Given the description of an element on the screen output the (x, y) to click on. 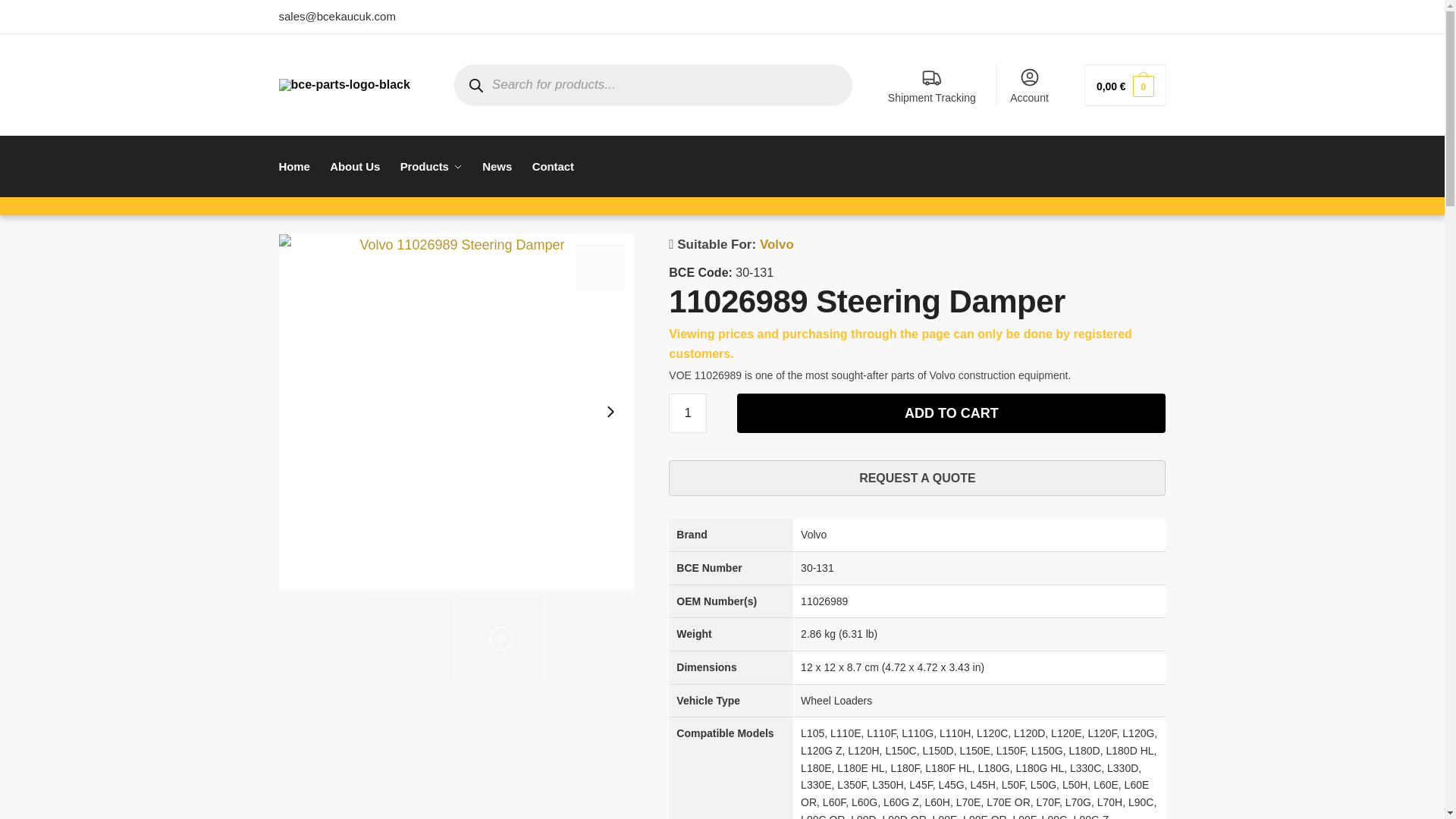
Volvo 11026989 Steering Damper (410, 638)
View your shopping cart (1125, 85)
Volvo 11026989 (500, 638)
click to zoom-in (456, 411)
Shipment Tracking (932, 85)
Account (1029, 85)
Products (430, 166)
1 (687, 413)
About Us (354, 166)
